Given the description of an element on the screen output the (x, y) to click on. 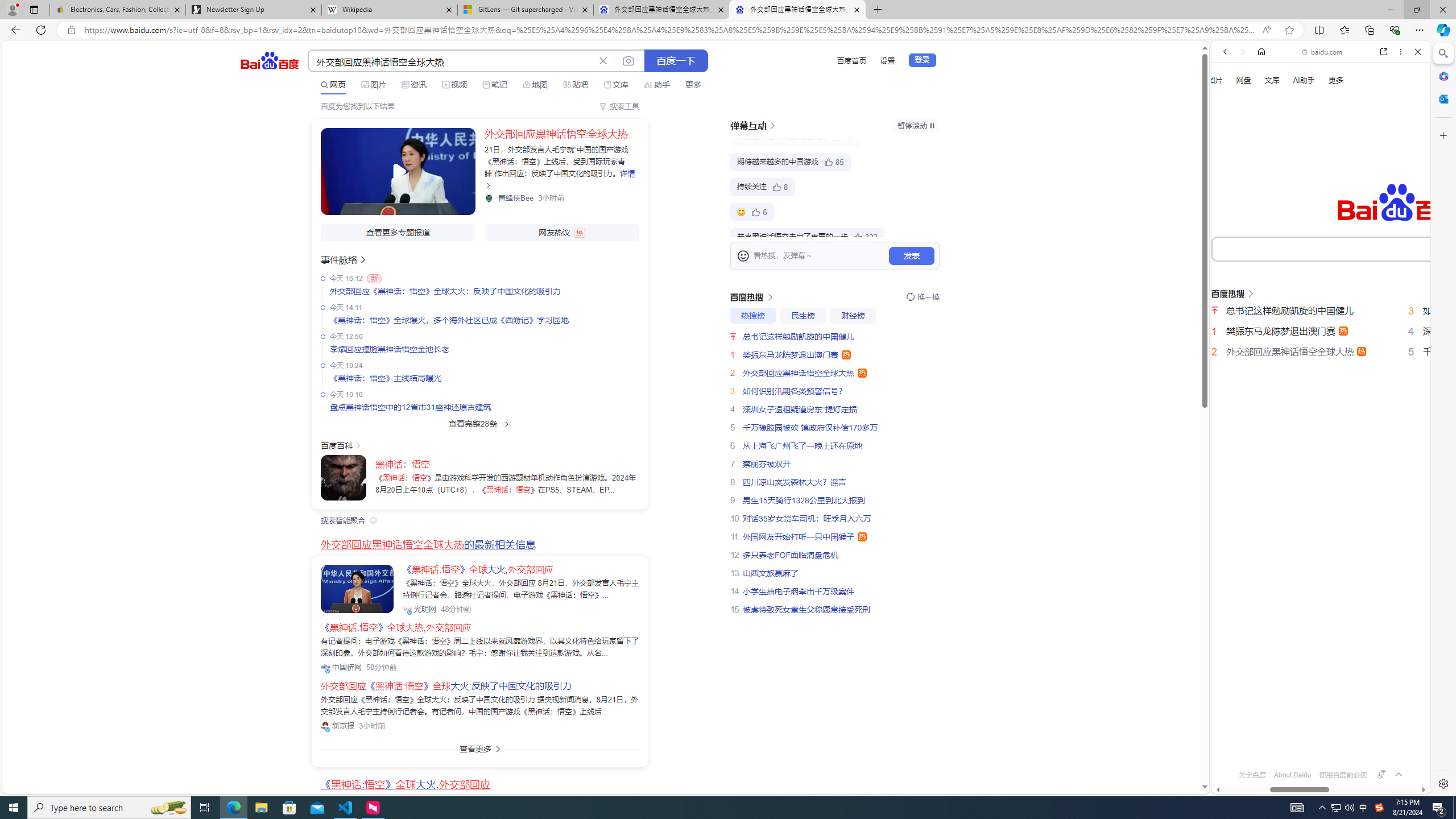
Restore (1416, 9)
Back (1225, 51)
To get missing image descriptions, open the context menu. (1229, 130)
Open link in new tab (1383, 51)
Outlook (1442, 98)
Learn more (1264, 154)
Forward (1242, 51)
Tab actions menu (33, 9)
